Given the description of an element on the screen output the (x, y) to click on. 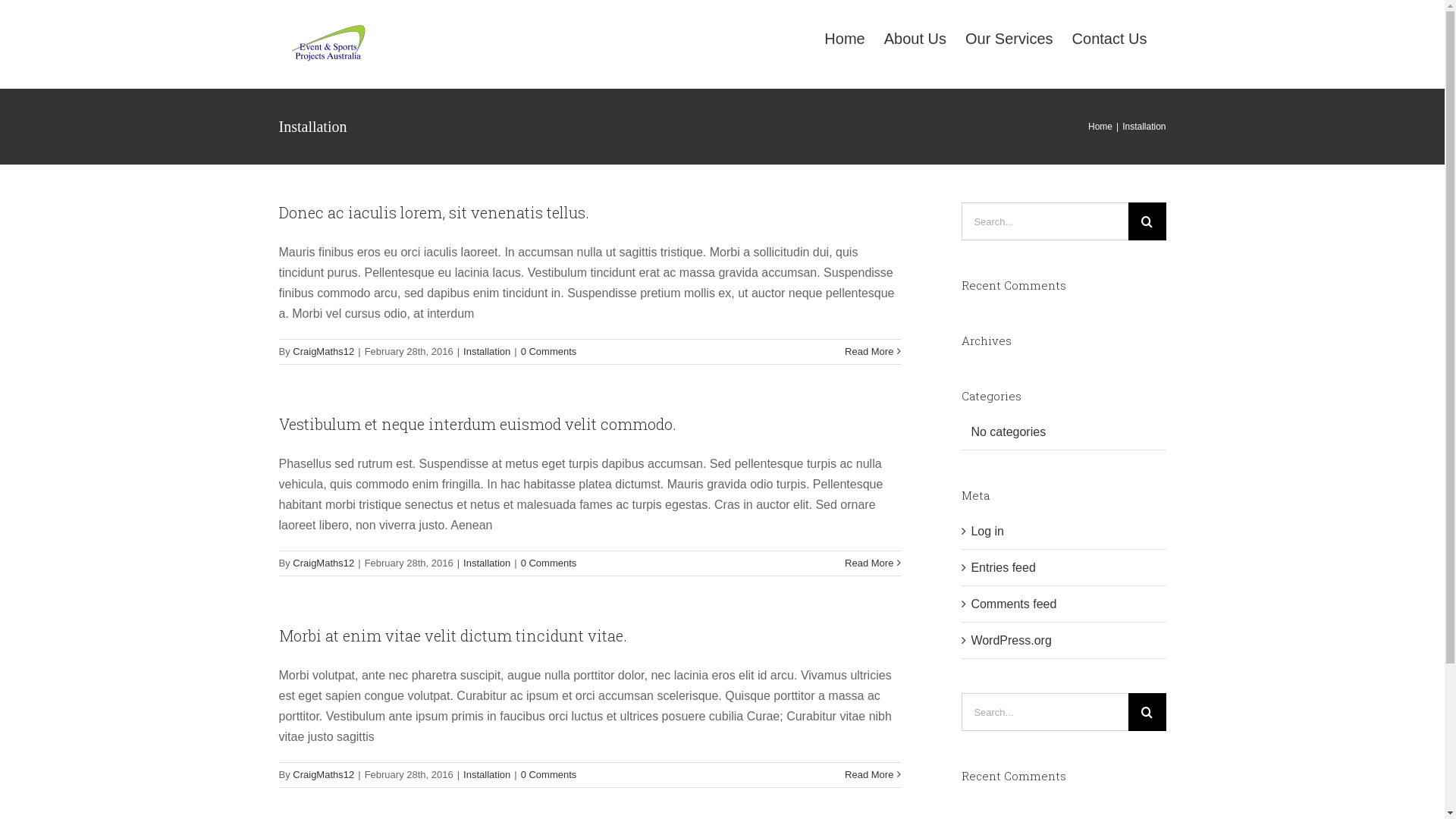
CraigMaths12 Element type: text (323, 562)
Morbi at enim vitae velit dictum tincidunt vitae. Element type: text (453, 635)
Vestibulum et neque interdum euismod velit commodo. Element type: text (477, 423)
Read More Element type: text (868, 774)
0 Comments Element type: text (548, 774)
Entries feed Element type: text (1002, 567)
WordPress.org Element type: text (1010, 639)
0 Comments Element type: text (548, 351)
Read More Element type: text (868, 351)
Donec ac iaculis lorem, sit venenatis tellus. Element type: text (434, 212)
Home Element type: text (1100, 126)
Home Element type: text (844, 37)
CraigMaths12 Element type: text (323, 351)
Comments feed Element type: text (1013, 603)
Installation Element type: text (486, 351)
About Us Element type: text (915, 37)
Installation Element type: text (486, 562)
Log in Element type: text (987, 530)
0 Comments Element type: text (548, 562)
Installation Element type: text (486, 774)
Our Services Element type: text (1009, 37)
Read More Element type: text (868, 563)
CraigMaths12 Element type: text (323, 774)
Contact Us Element type: text (1109, 37)
